Given the description of an element on the screen output the (x, y) to click on. 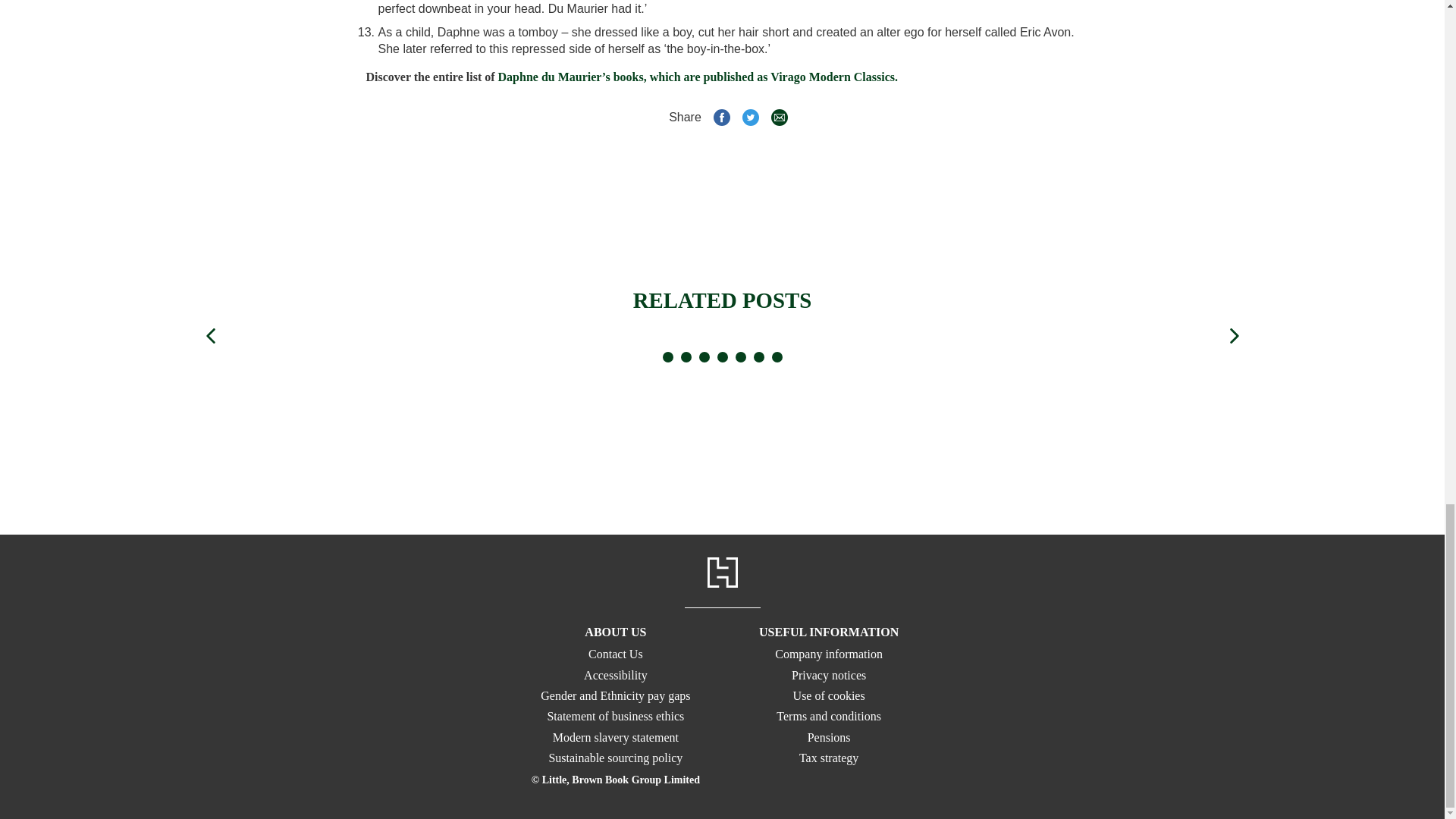
Hachette Logo Large H Initial (721, 572)
Left Arrow Left arrow icon (209, 226)
Right Arrow Right arrow icon (1233, 226)
